Given the description of an element on the screen output the (x, y) to click on. 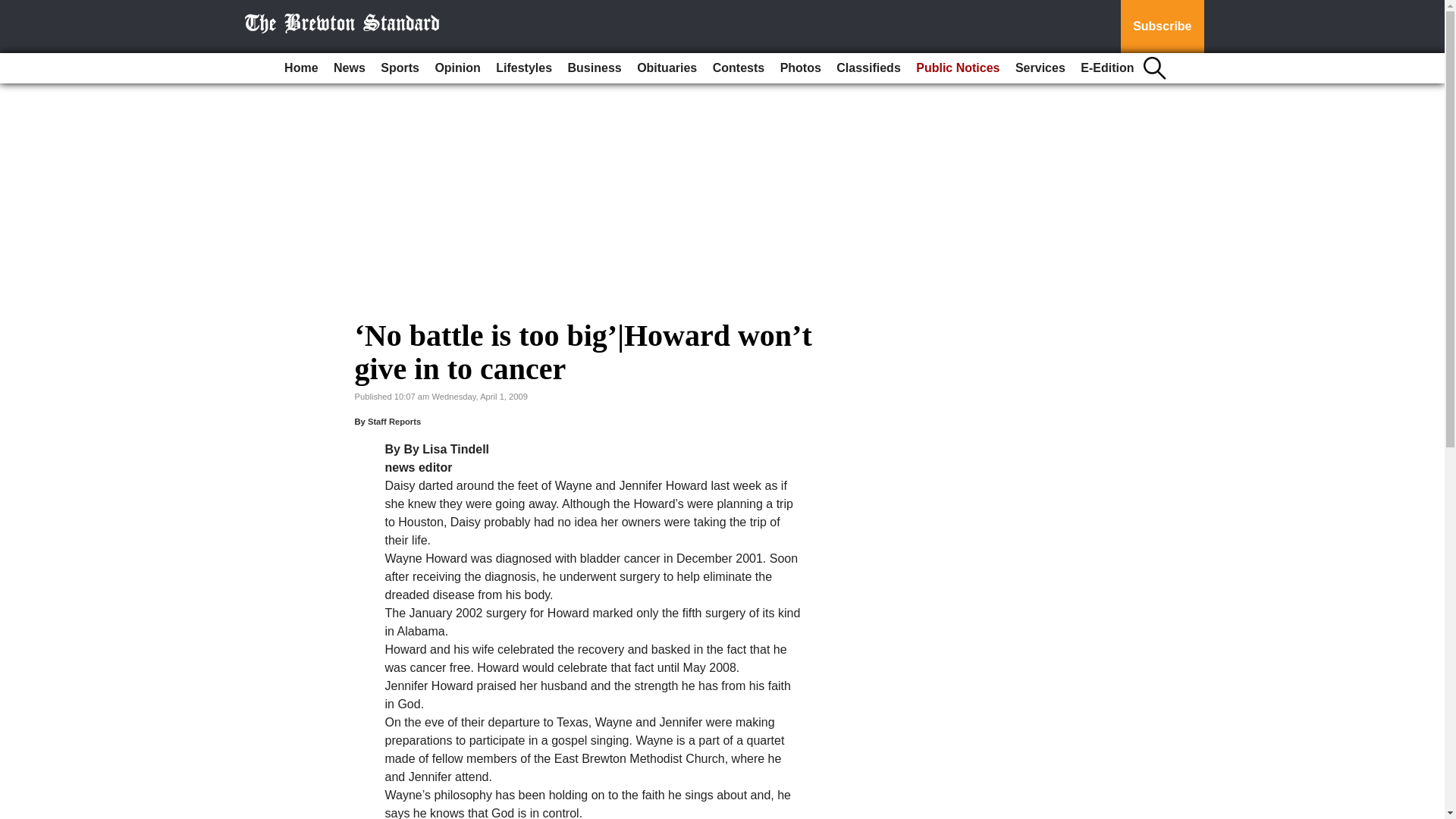
Business (594, 68)
Photos (800, 68)
News (349, 68)
Lifestyles (523, 68)
Services (1040, 68)
Public Notices (958, 68)
Obituaries (666, 68)
Sports (399, 68)
E-Edition (1107, 68)
Subscribe (1162, 26)
